Given the description of an element on the screen output the (x, y) to click on. 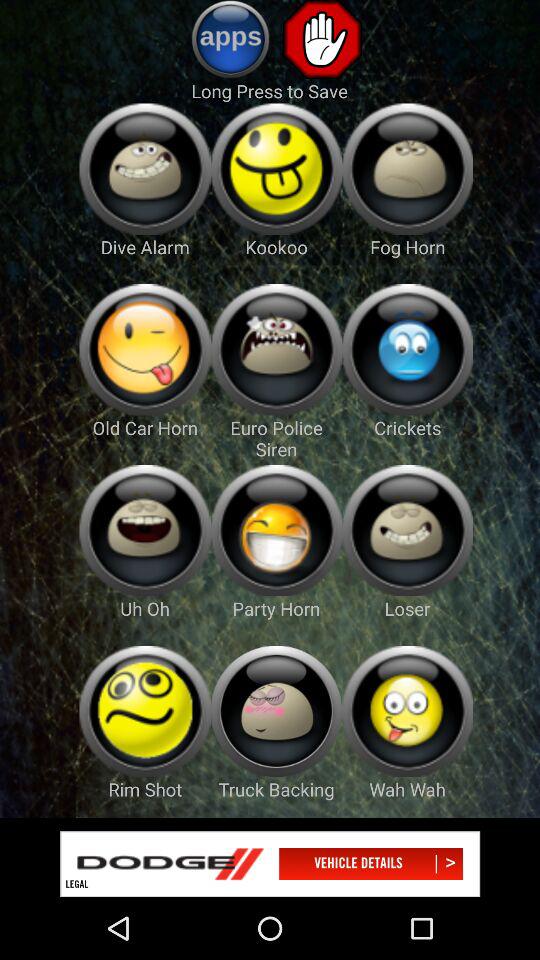
open face (144, 530)
